Given the description of an element on the screen output the (x, y) to click on. 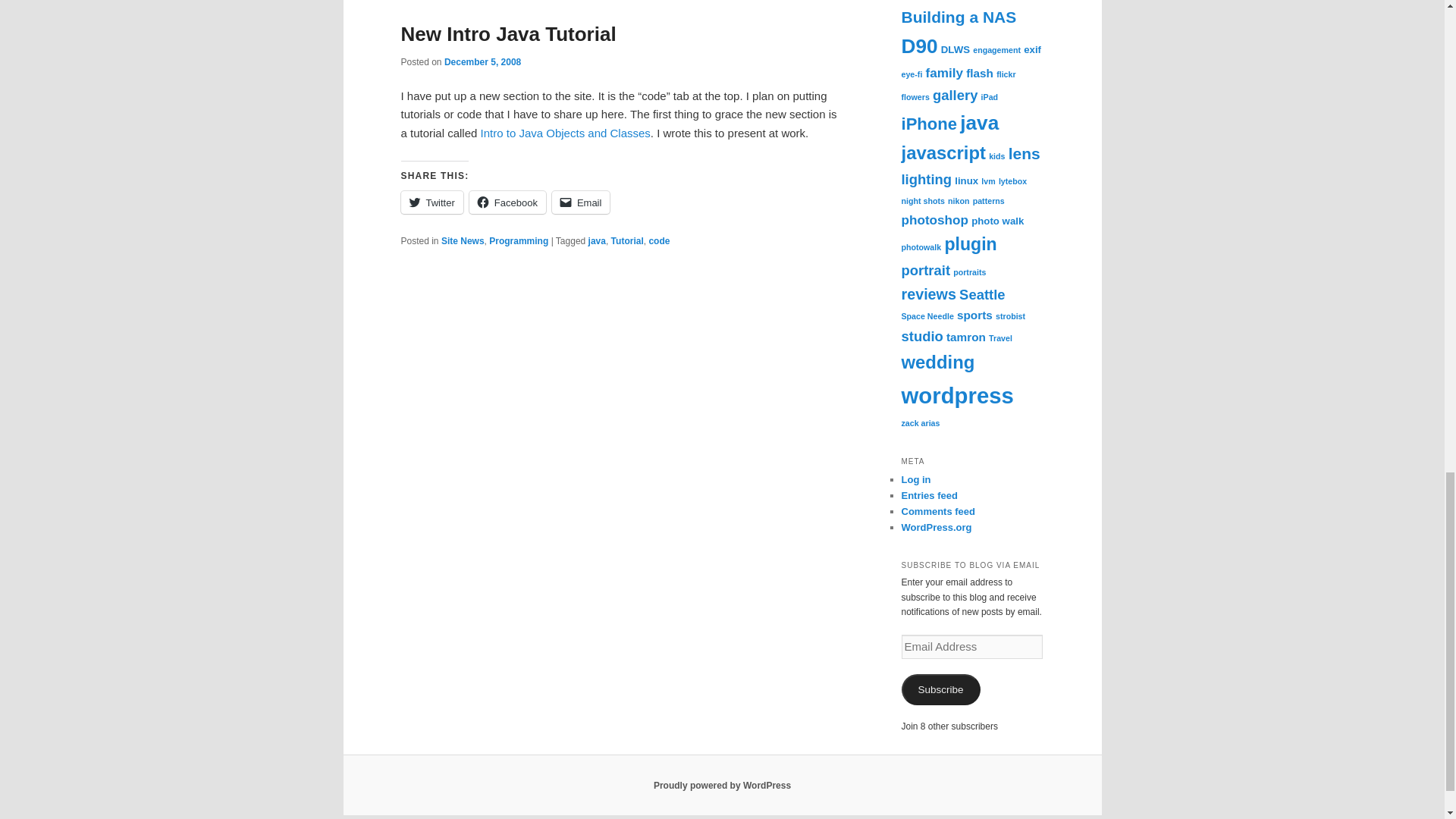
3:08 pm (482, 61)
Email (580, 201)
Click to share on Twitter (431, 201)
Intro to Java Objects and Classes (565, 132)
Twitter (431, 201)
Programming (518, 240)
Click to email a link to a friend (580, 201)
Tutorial (627, 240)
Click to share on Facebook (507, 201)
Site News (462, 240)
